Given the description of an element on the screen output the (x, y) to click on. 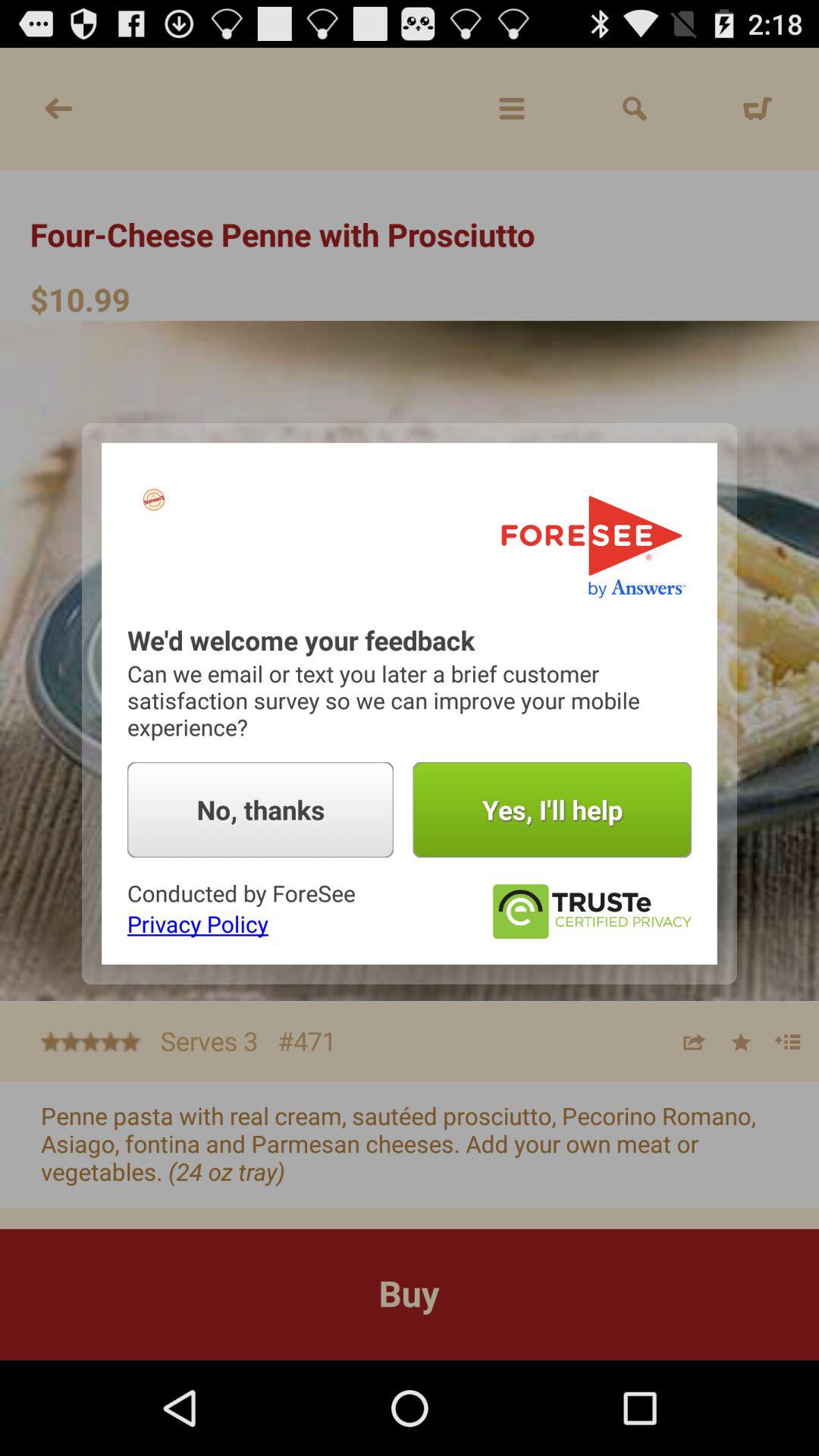
click the privacy policy icon (197, 923)
